Given the description of an element on the screen output the (x, y) to click on. 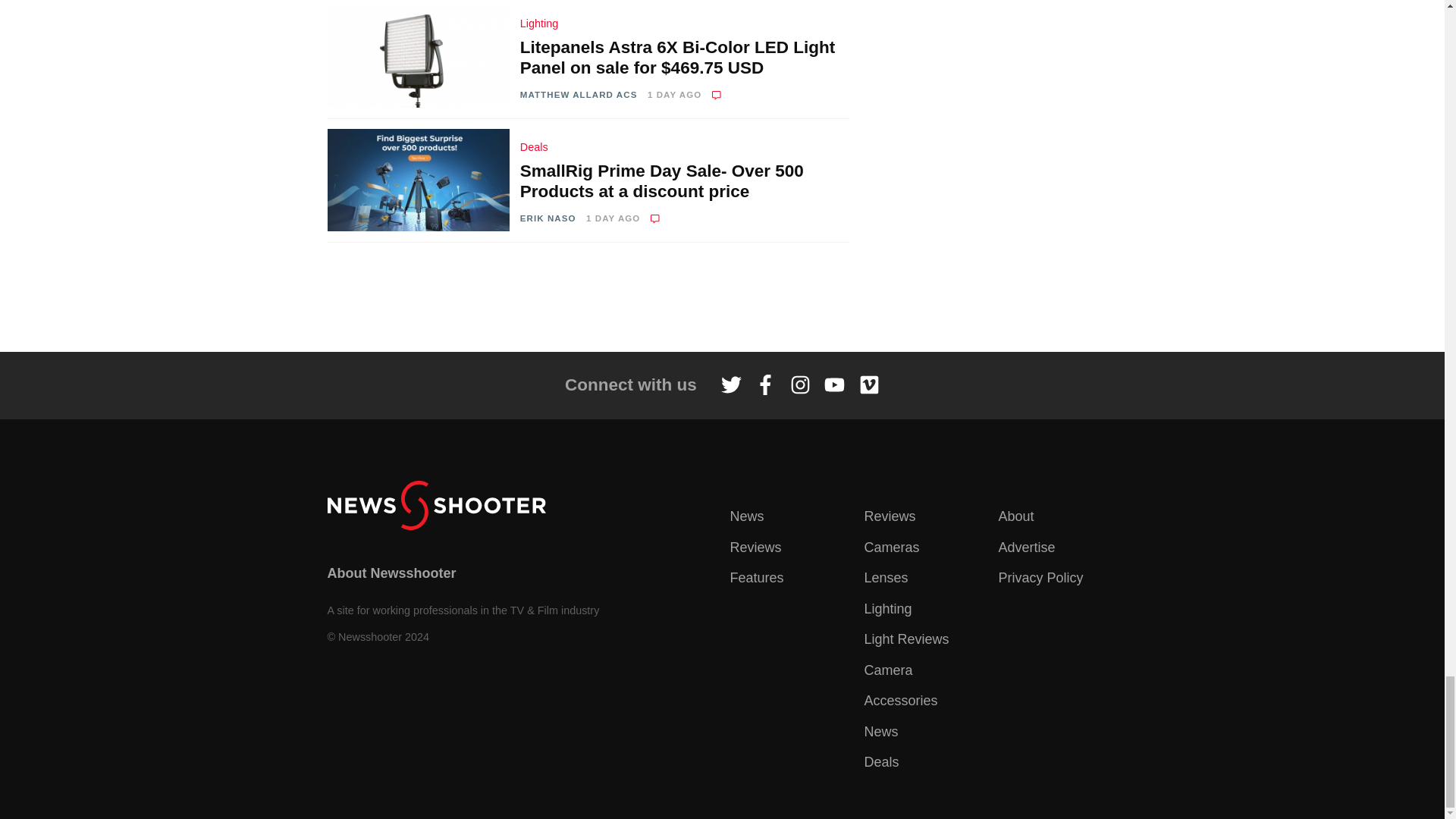
3rd party ad content (721, 296)
